Given the description of an element on the screen output the (x, y) to click on. 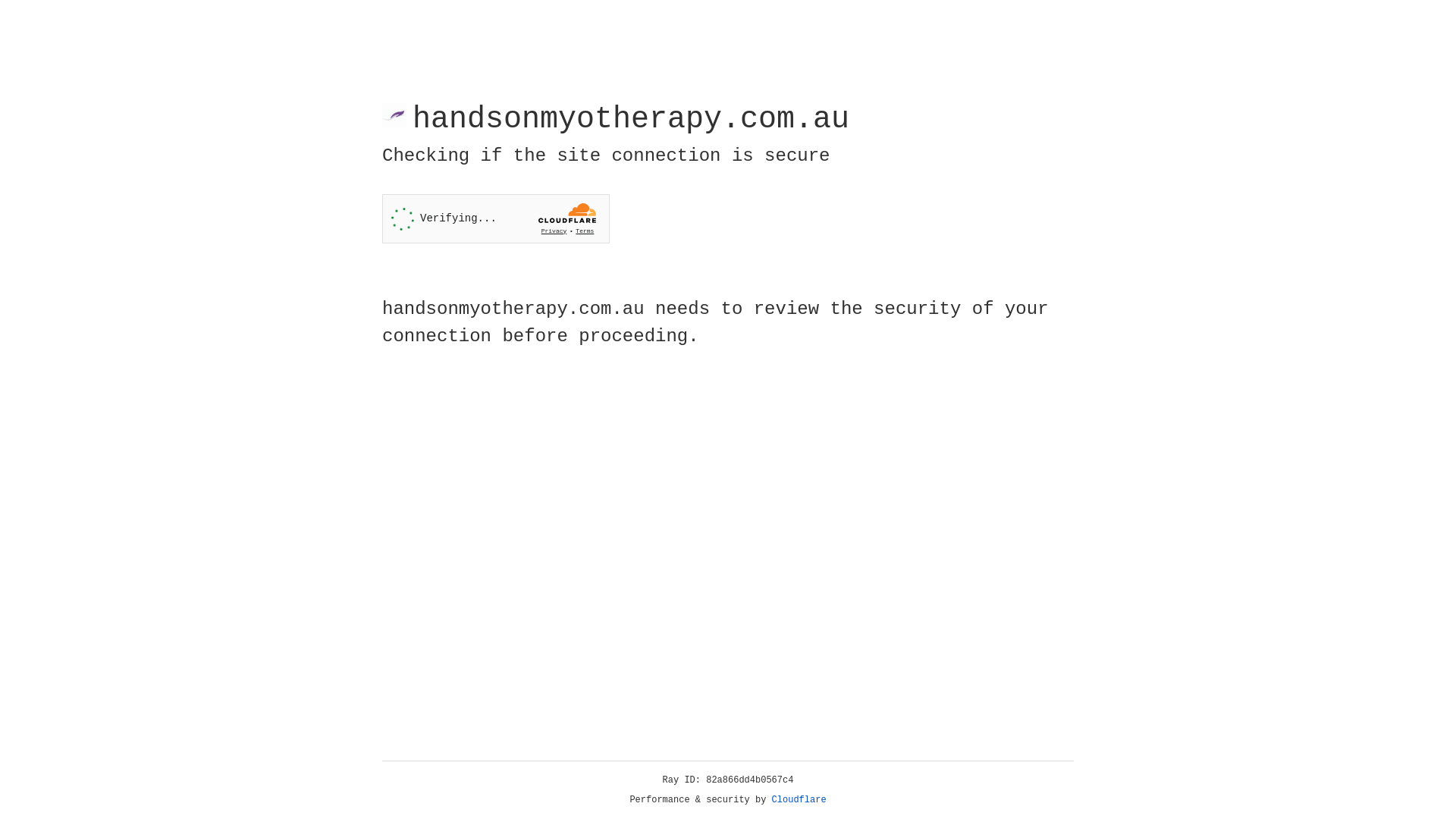
Widget containing a Cloudflare security challenge Element type: hover (495, 218)
Cloudflare Element type: text (798, 799)
